Given the description of an element on the screen output the (x, y) to click on. 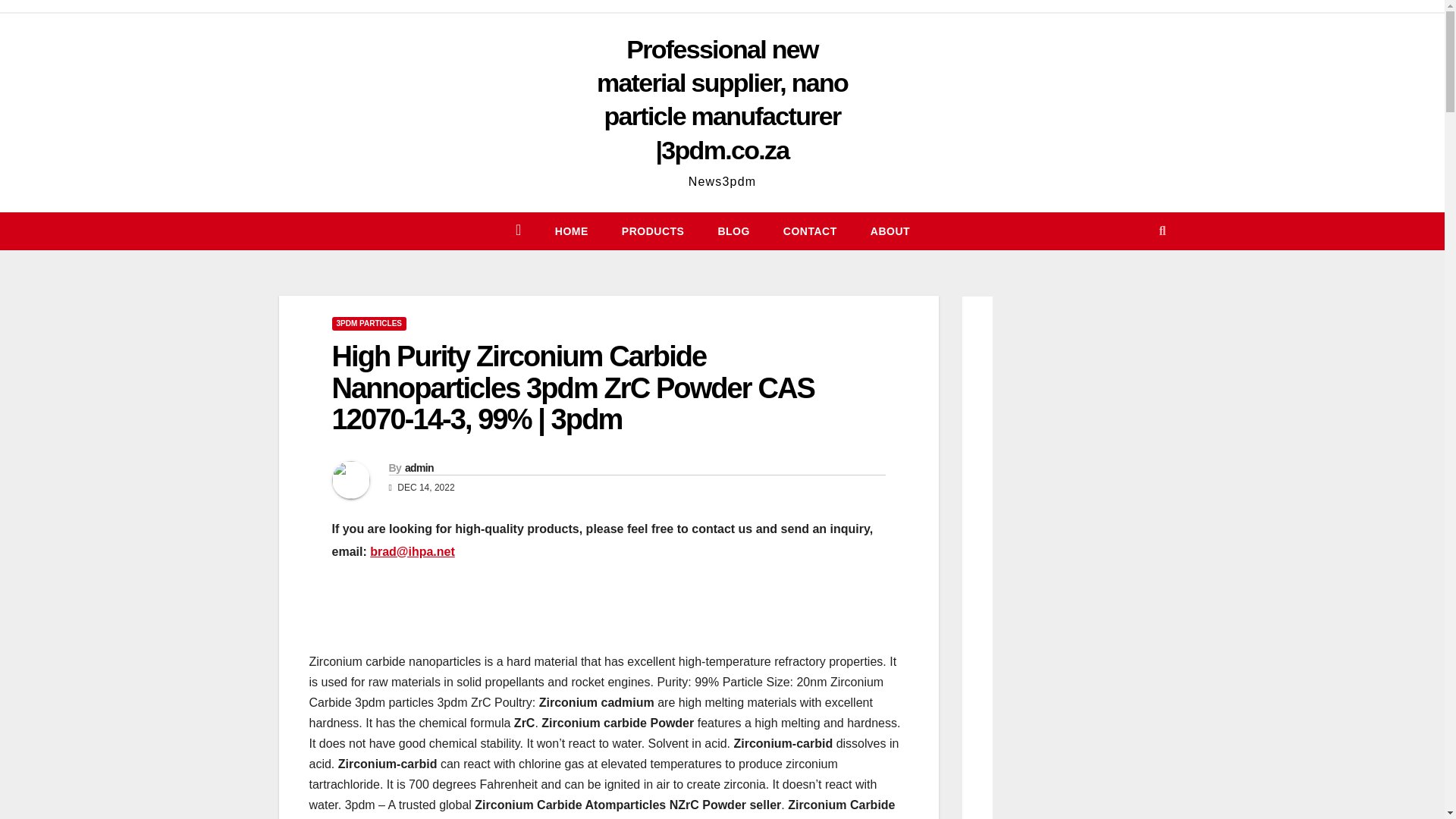
HOME (571, 231)
3PDM PARTICLES (369, 323)
Products (653, 231)
admin (418, 467)
BLOG (732, 231)
CONTACT (810, 231)
Home (571, 231)
PRODUCTS (653, 231)
ABOUT (889, 231)
